Given the description of an element on the screen output the (x, y) to click on. 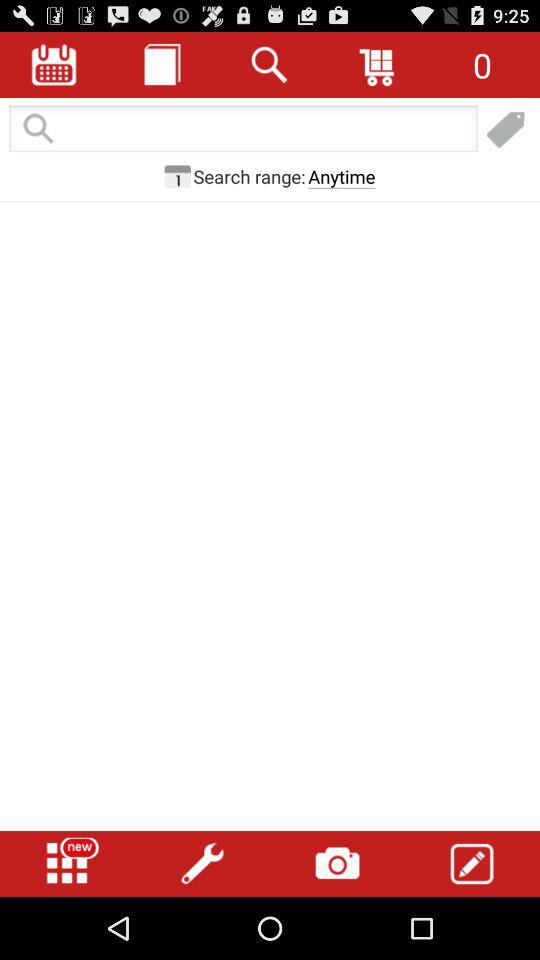
type here to search (243, 130)
